Given the description of an element on the screen output the (x, y) to click on. 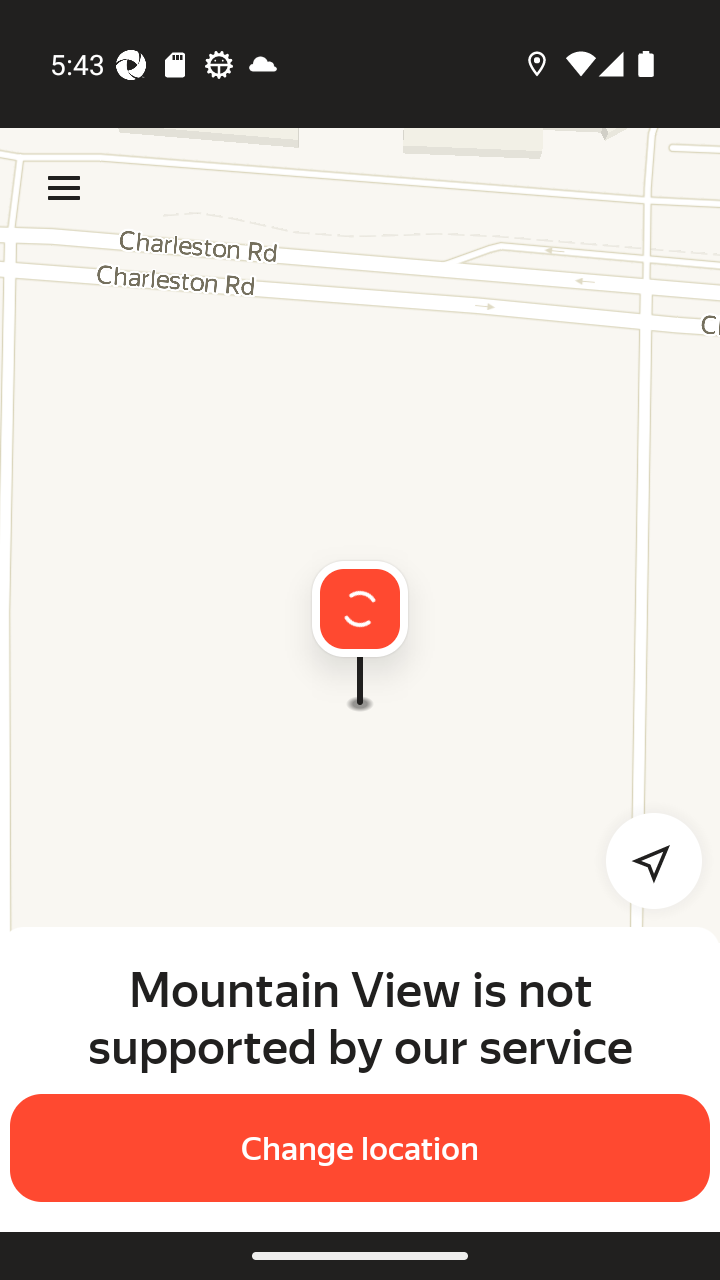
Menu Menu Menu (64, 188)
Detect my location (641, 860)
Change location (359, 1147)
